Given the description of an element on the screen output the (x, y) to click on. 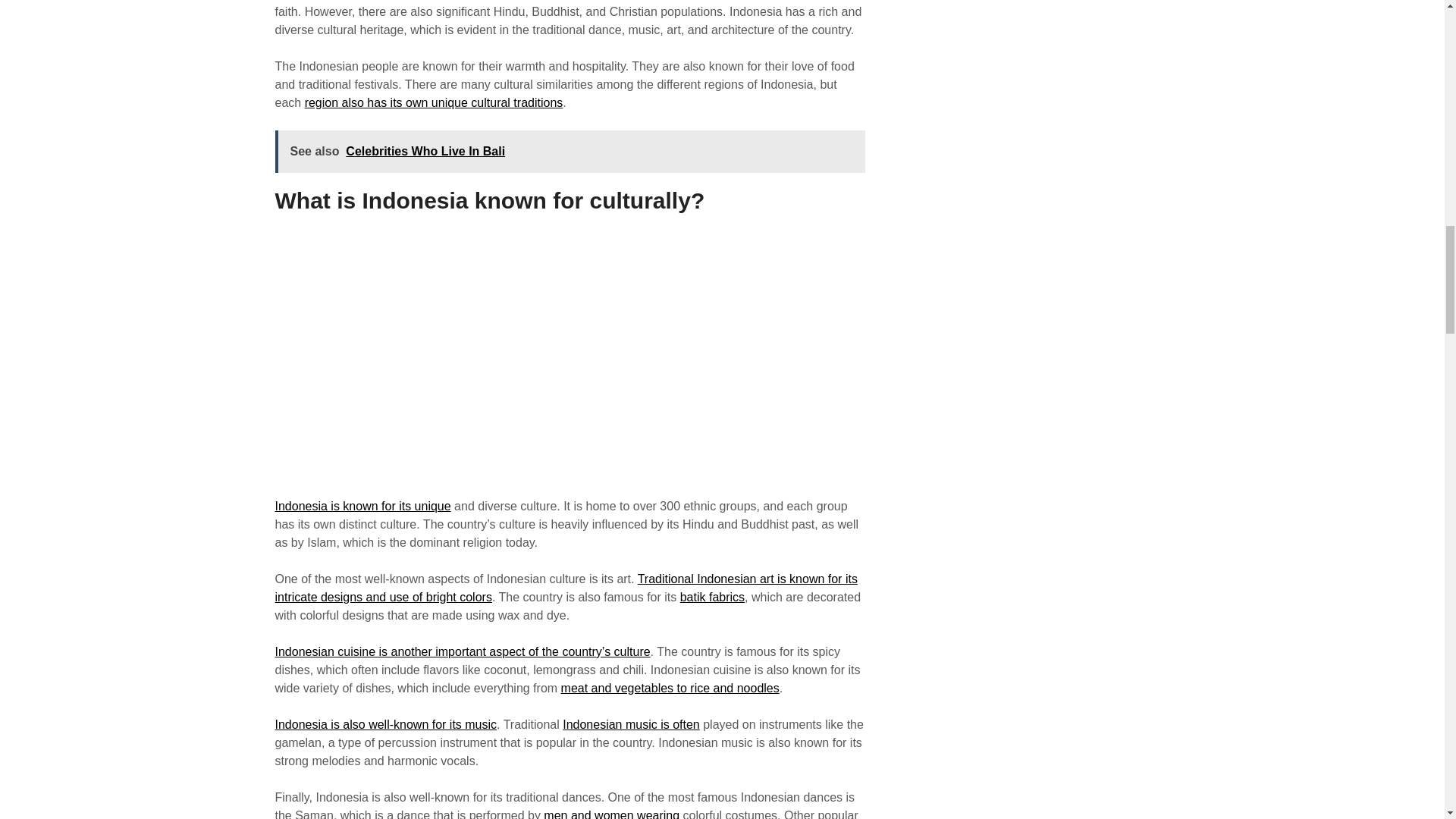
region also has its own unique cultural traditions (433, 102)
Indonesian music is often (631, 724)
men and women wearing (611, 814)
Indonesia is known for its unique (362, 505)
See also  Celebrities Who Live In Bali (569, 151)
meat and vegetables to rice and noodles (669, 687)
Indonesia is also well-known for its music (385, 724)
batik fabrics (711, 596)
